Given the description of an element on the screen output the (x, y) to click on. 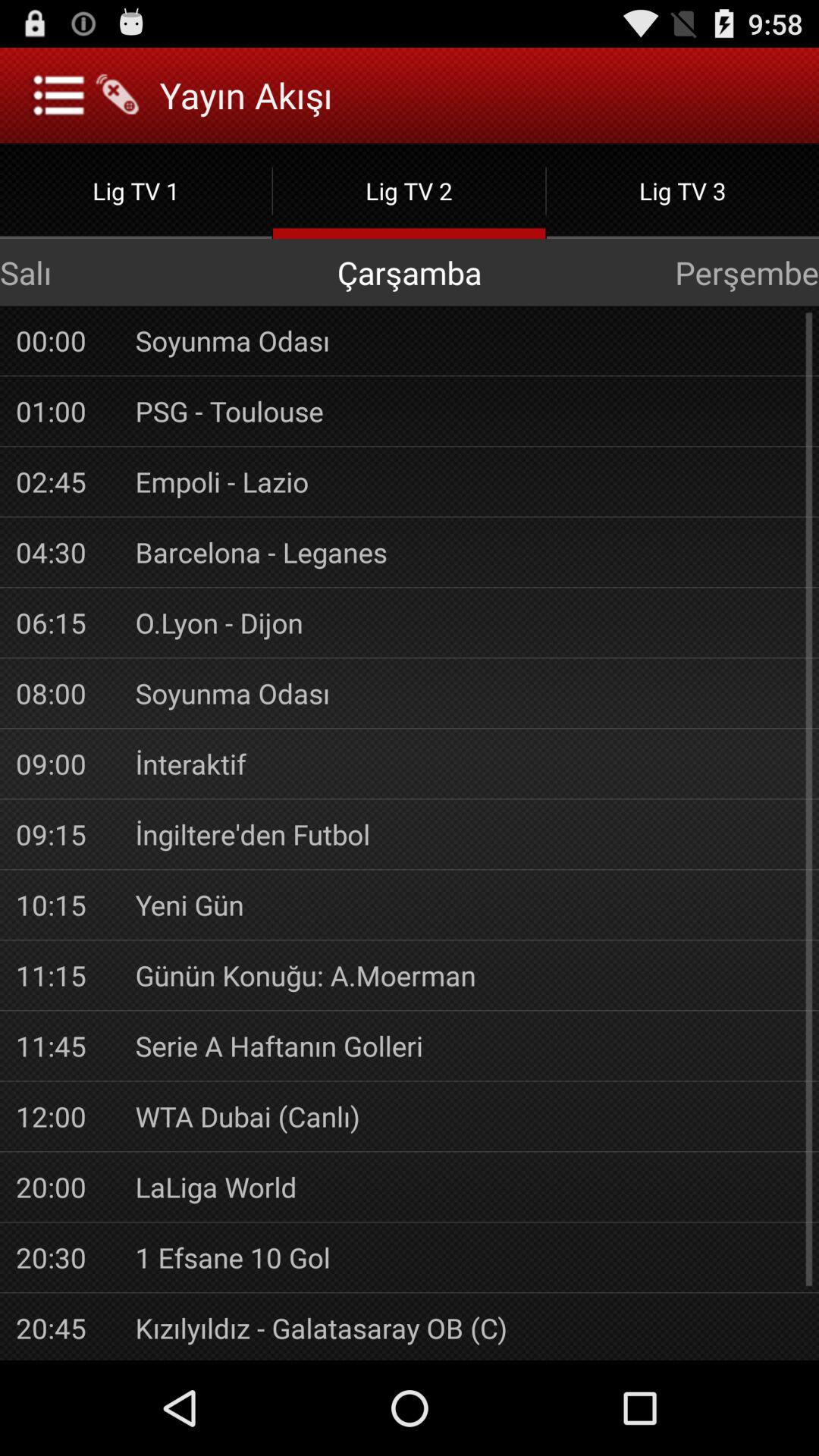
turn off item above the laliga world icon (469, 1116)
